Given the description of an element on the screen output the (x, y) to click on. 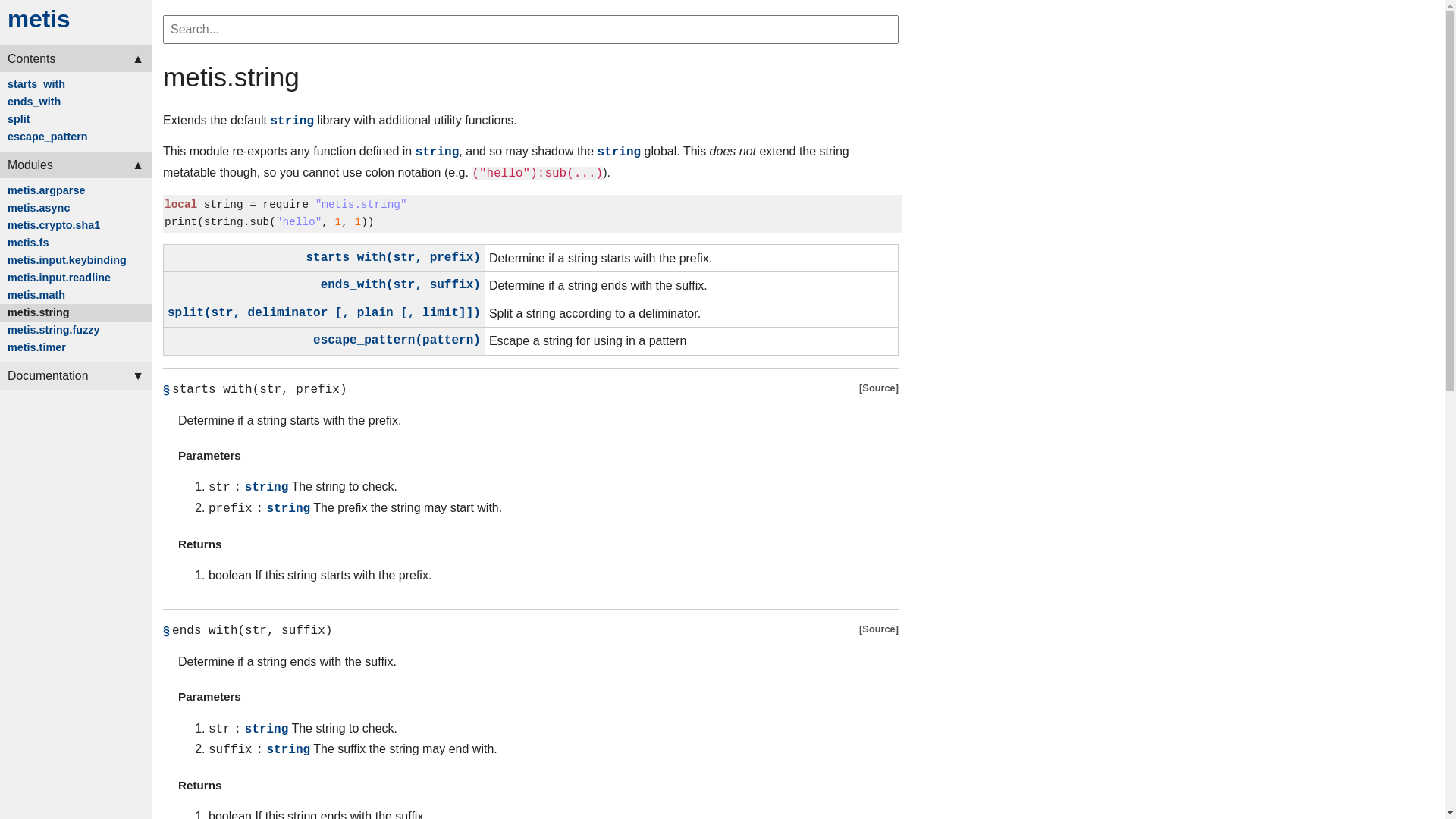
split Element type: text (75, 119)
metis.async Element type: text (75, 207)
string Element type: text (291, 120)
string Element type: text (266, 487)
metis.fs Element type: text (75, 242)
metis.argparse Element type: text (75, 190)
string  Element type: text (226, 204)
metis.input.readline Element type: text (75, 277)
string Element type: text (619, 152)
split(str, deliminator [, plain [, limit]]) Element type: text (323, 313)
string Element type: text (437, 152)
metis.math Element type: text (75, 295)
escape_pattern Element type: text (75, 136)
string Element type: text (288, 508)
string Element type: text (223, 222)
Source Element type: text (878, 390)
string Element type: text (266, 729)
metis.crypto.sha1 Element type: text (75, 225)
metis.input.keybinding Element type: text (75, 260)
starts_with(str, prefix) Element type: text (392, 257)
metis.timer Element type: text (75, 347)
metis.string.fuzzy Element type: text (75, 329)
ends_with(str, suffix) Element type: text (400, 284)
escape_pattern(pattern) Element type: text (396, 340)
Source Element type: text (878, 631)
string Element type: text (288, 749)
starts_with Element type: text (75, 84)
metis Element type: text (38, 18)
ends_with Element type: text (75, 101)
